Given the description of an element on the screen output the (x, y) to click on. 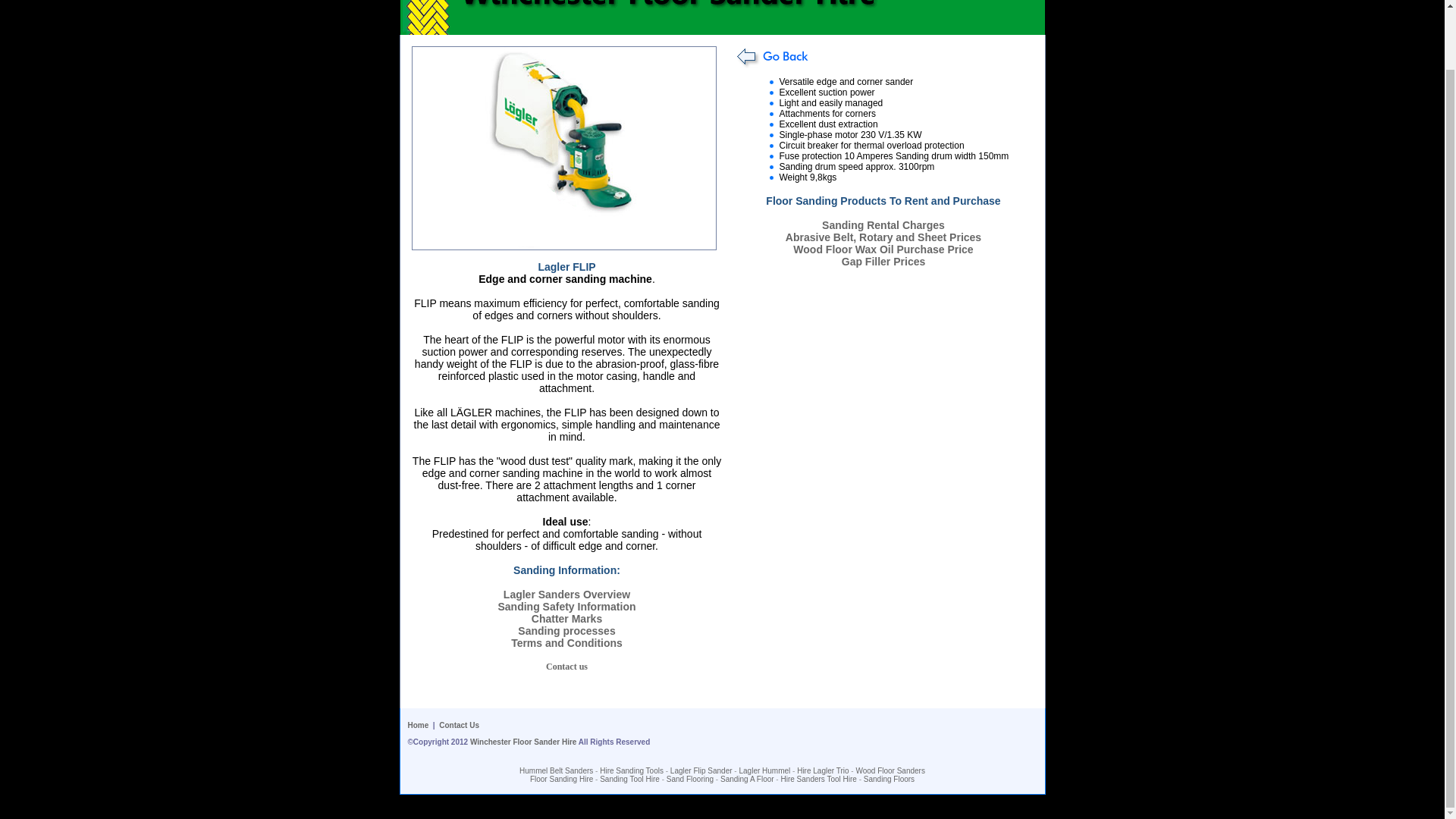
Lagler Flip Sander (700, 770)
Sanding machine hire costs (883, 224)
Wood Floor Sanders (890, 770)
Lagler Trio Sander (822, 770)
Terms and conditions for hiring sanders (567, 643)
Chatter Marks (566, 618)
Wood floor abrasive prices (883, 236)
Floor Sanding Hire (560, 778)
Hire Sanding Tools (631, 770)
Wood Floor Wax Oil finishing products (882, 249)
Tools Hire (700, 770)
Gap Filler Prices (883, 261)
Sanding Tool Hire (629, 778)
Hummel Belt Sanders (555, 770)
Sand Flooring (689, 778)
